Given the description of an element on the screen output the (x, y) to click on. 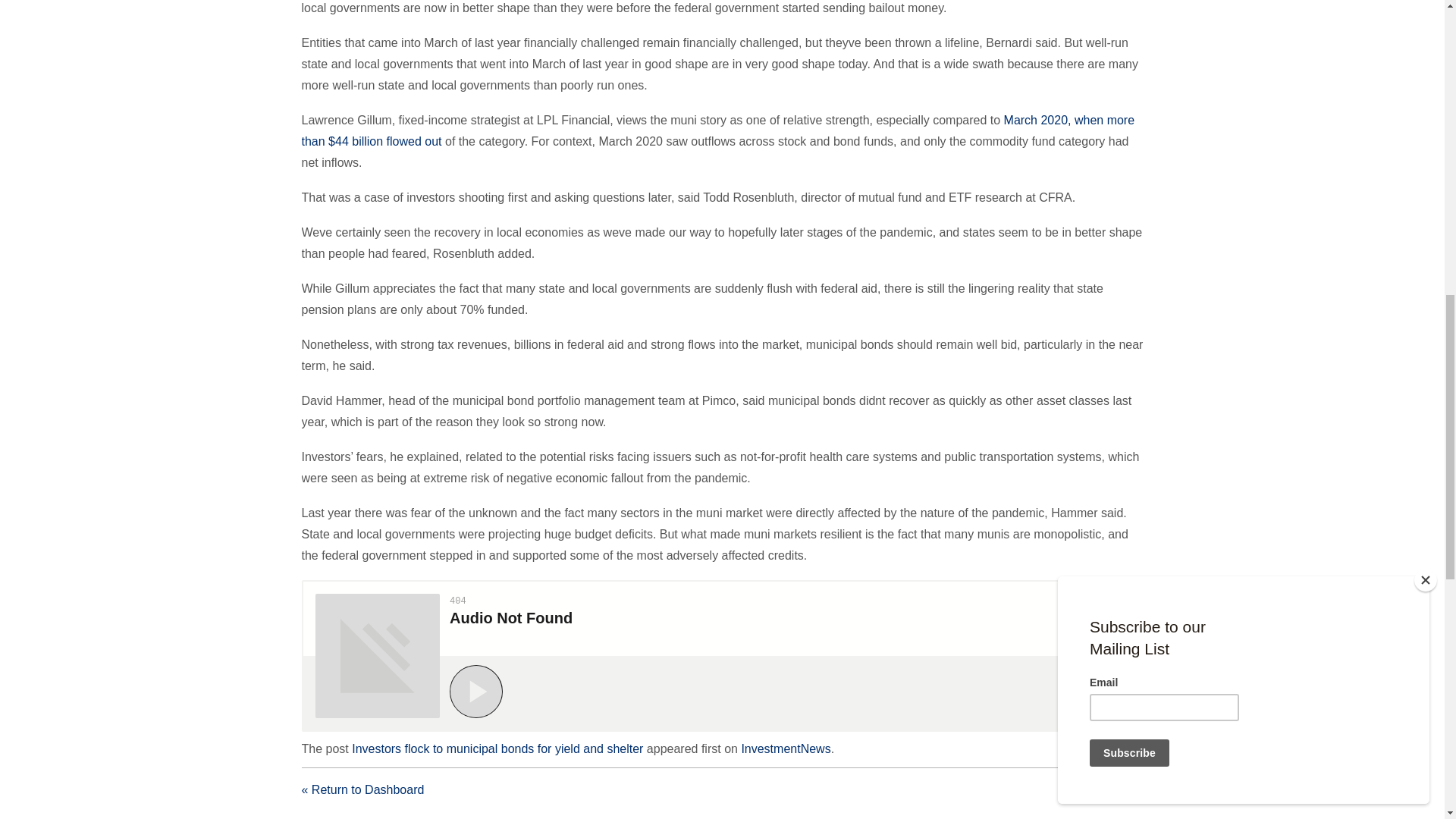
Investors flock to municipal bonds for yield and shelter (497, 748)
InvestmentNews (785, 748)
